Given the description of an element on the screen output the (x, y) to click on. 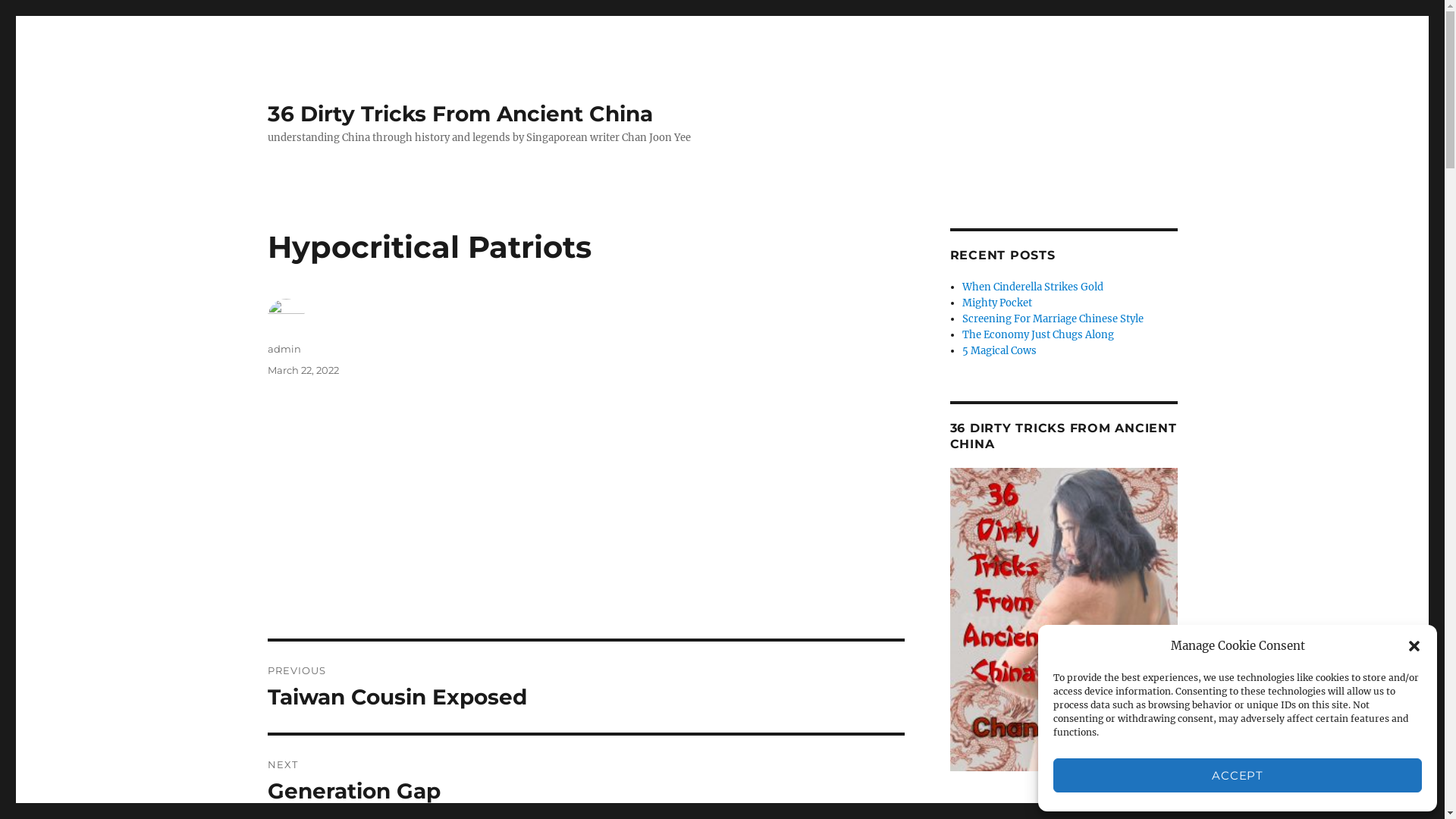
ACCEPT Element type: text (1237, 775)
PREVIOUS
Previous post:
Taiwan Cousin Exposed Element type: text (584, 686)
admin Element type: text (283, 348)
Screening For Marriage Chinese Style Element type: text (1052, 318)
The Economy Just Chugs Along Element type: text (1037, 334)
5 Magical Cows Element type: text (999, 350)
Mighty Pocket Element type: text (997, 302)
36 Dirty Tricks From Ancient China Element type: text (459, 113)
March 22, 2022 Element type: text (302, 370)
When Cinderella Strikes Gold Element type: text (1032, 286)
